Given the description of an element on the screen output the (x, y) to click on. 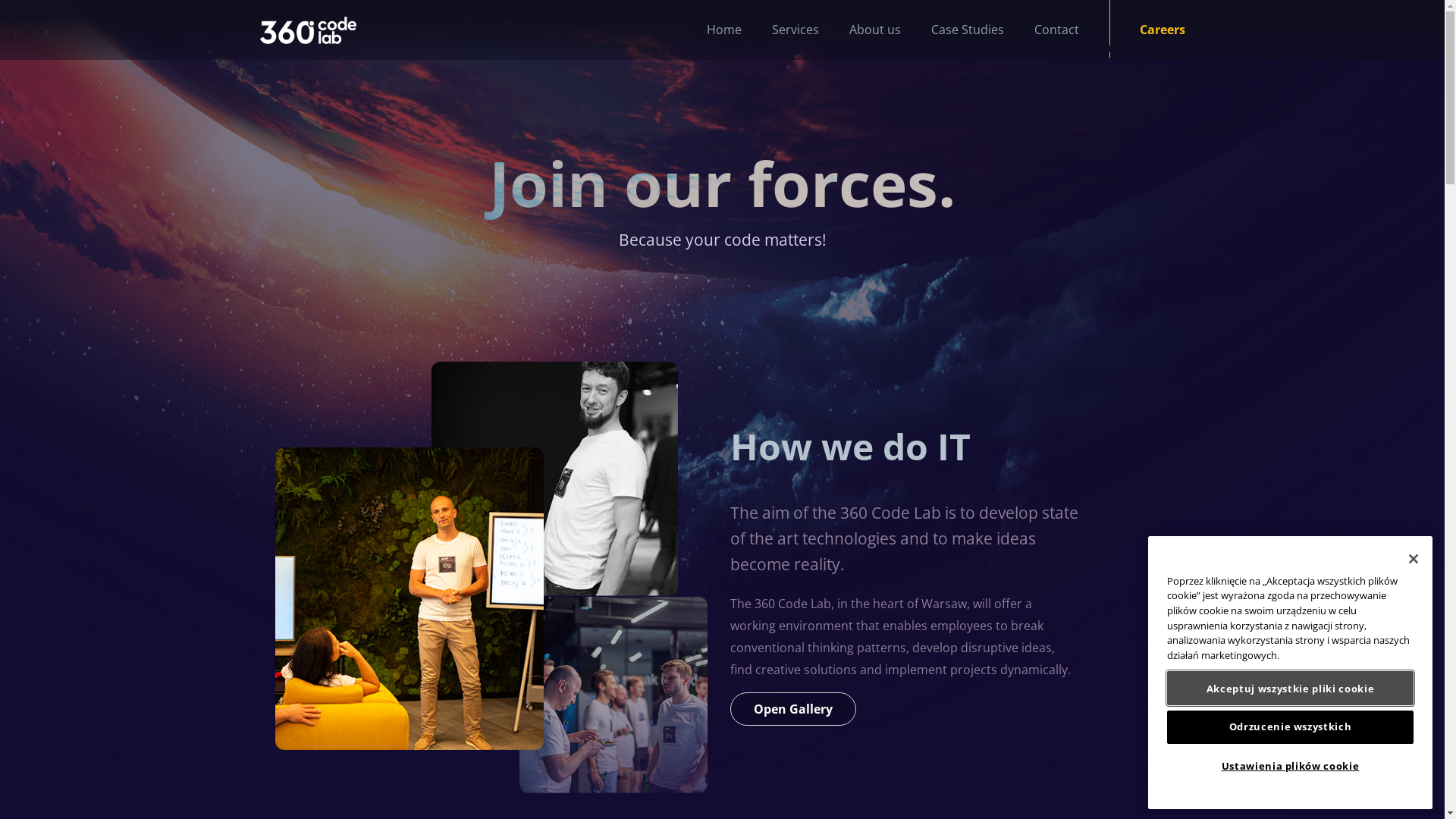
About us Element type: text (859, 29)
Home Element type: text (708, 29)
Careers Element type: text (1146, 29)
Open Gallery Element type: text (792, 708)
Contact Element type: text (1041, 29)
Odrzucenie wszystkich Element type: text (1290, 726)
Case Studies Element type: text (952, 29)
Services Element type: text (780, 29)
Akceptuj wszystkie pliki cookie Element type: text (1290, 687)
